Given the description of an element on the screen output the (x, y) to click on. 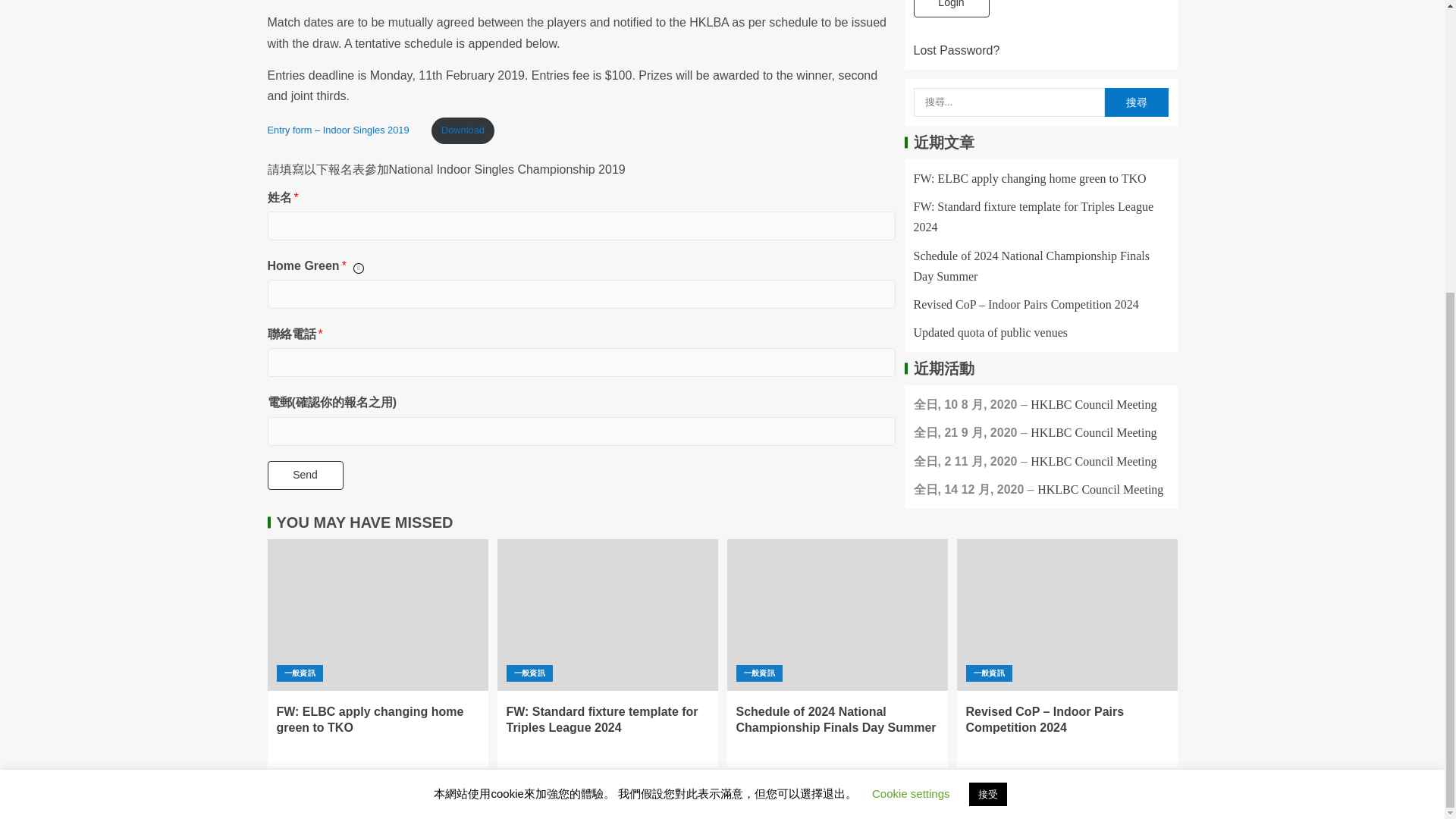
Download (462, 130)
